Given the description of an element on the screen output the (x, y) to click on. 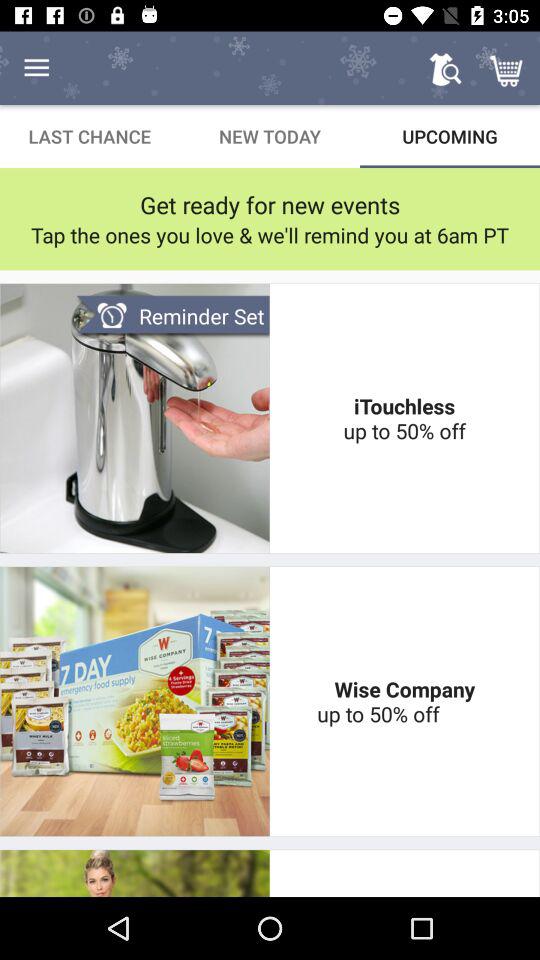
flip until the get ready for item (270, 204)
